Given the description of an element on the screen output the (x, y) to click on. 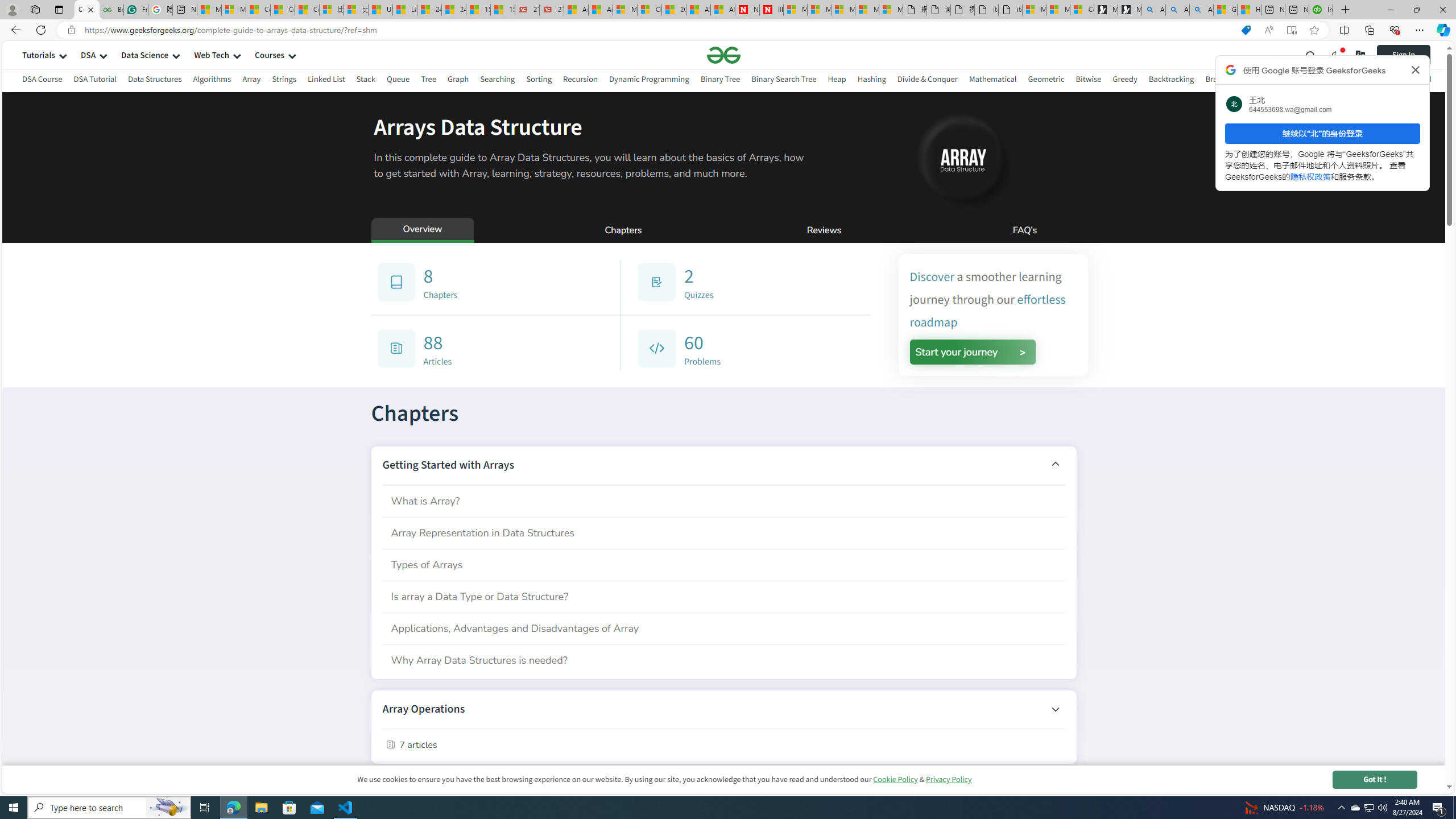
Heap (836, 79)
Types of Arrays (723, 564)
Applications, Advantages and Disadvantages of Array (723, 628)
Branch and Bound (1237, 80)
Searching (497, 80)
Hashing (871, 79)
search (1311, 54)
Tutorials (38, 55)
Divide & Conquer (927, 79)
21 Movies That Outdid the Books They Were Based On (551, 9)
Data Structures (154, 79)
Binary Tree (719, 80)
Linked List (325, 80)
